Given the description of an element on the screen output the (x, y) to click on. 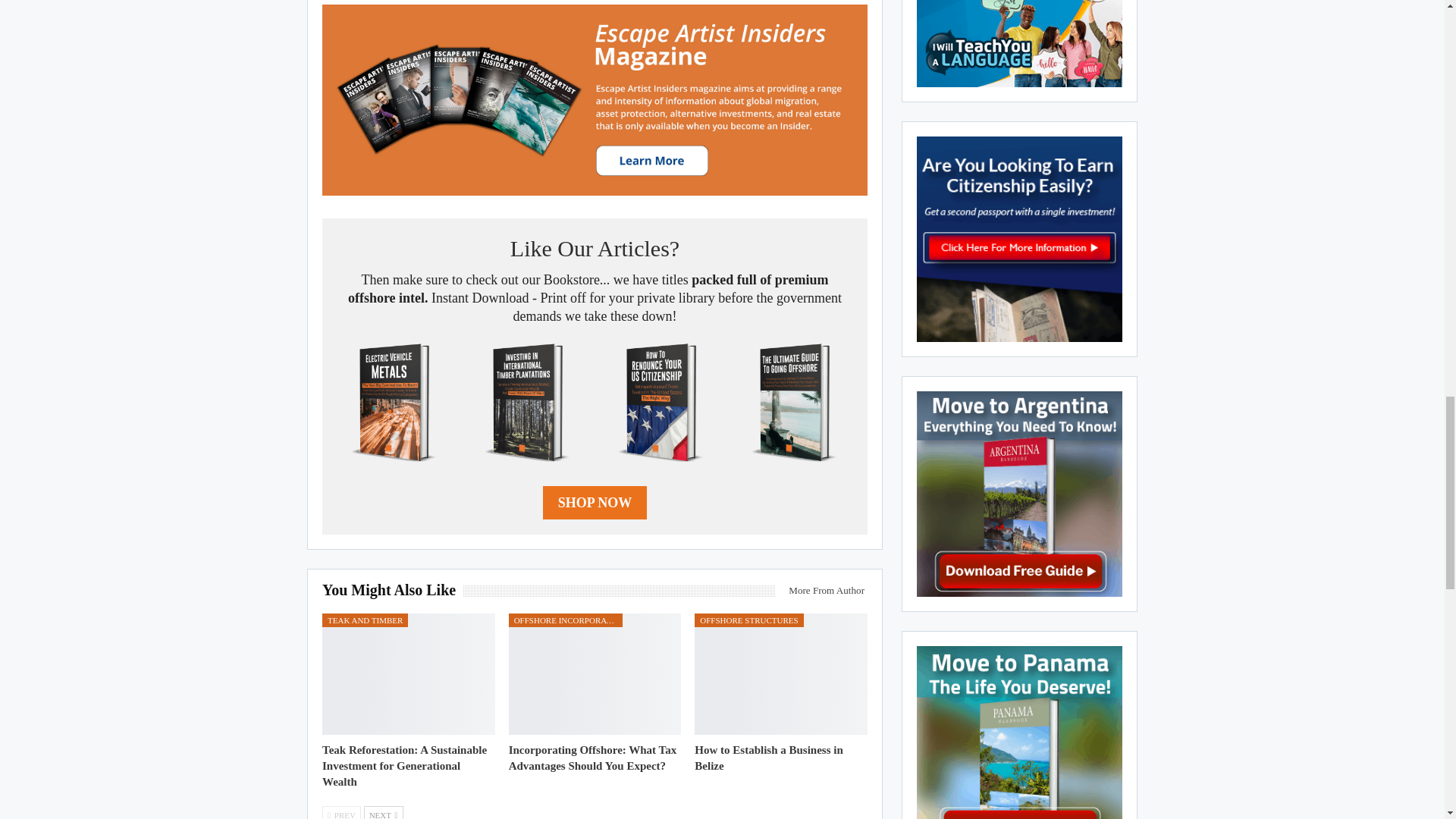
Escapeartist (594, 99)
